Given the description of an element on the screen output the (x, y) to click on. 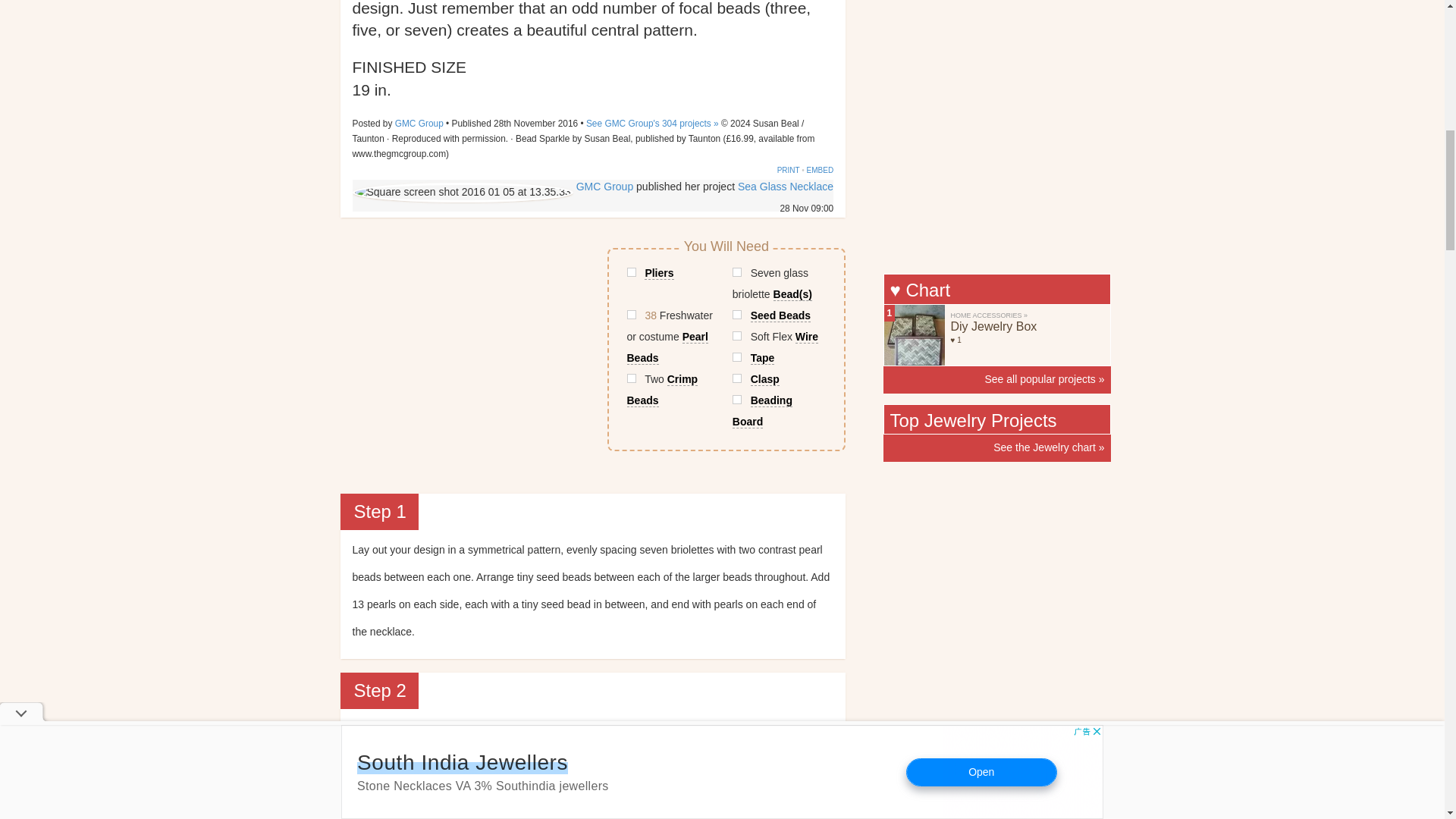
See other projects using Pliers (672, 272)
